Given the description of an element on the screen output the (x, y) to click on. 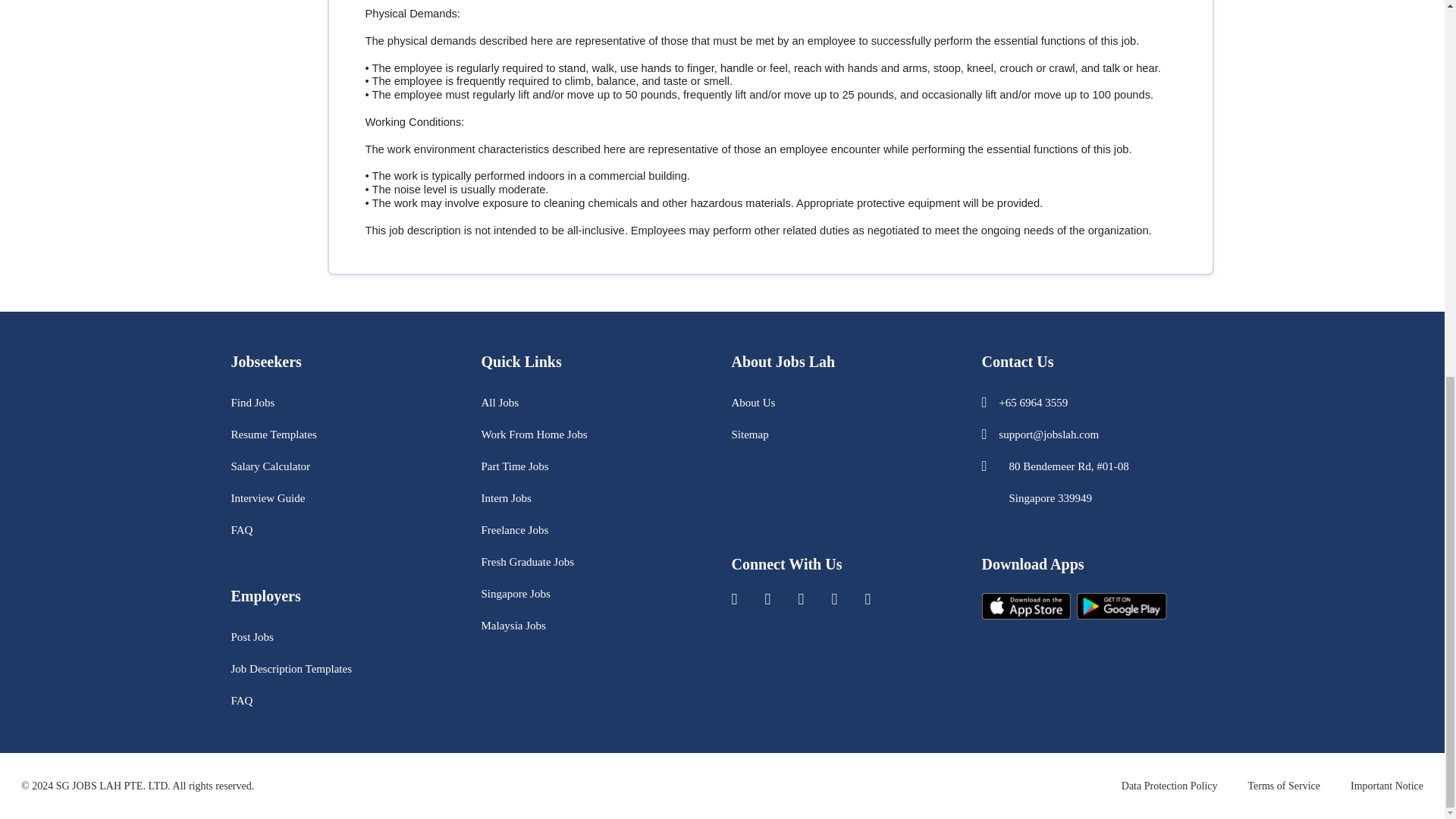
Resume Templates (272, 434)
Salary Calculator (270, 466)
Find Jobs (252, 402)
